Given the description of an element on the screen output the (x, y) to click on. 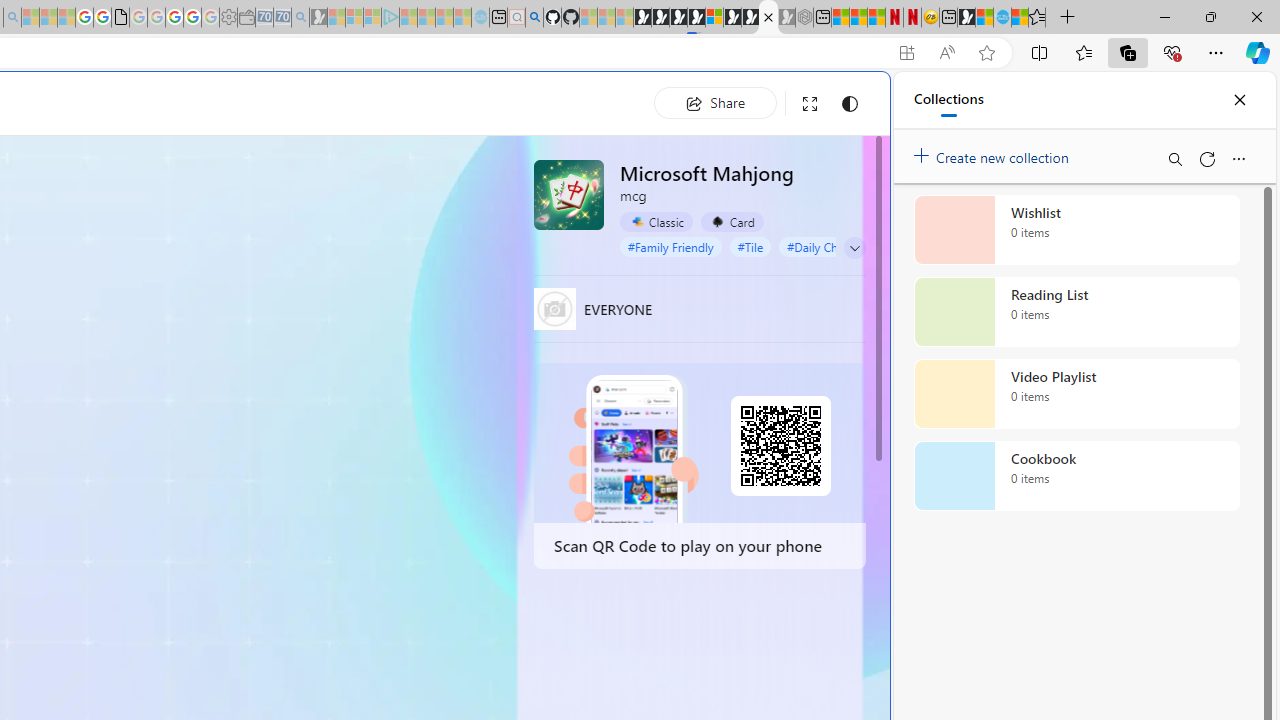
Card (732, 222)
Settings - Sleeping (228, 17)
Video Playlist collection, 0 items (1076, 394)
App available. Install Microsoft Mahjong (906, 53)
Cookbook collection, 0 items (1076, 475)
Close split screen (844, 102)
Change to dark mode (849, 103)
Frequently visited (418, 265)
